Given the description of an element on the screen output the (x, y) to click on. 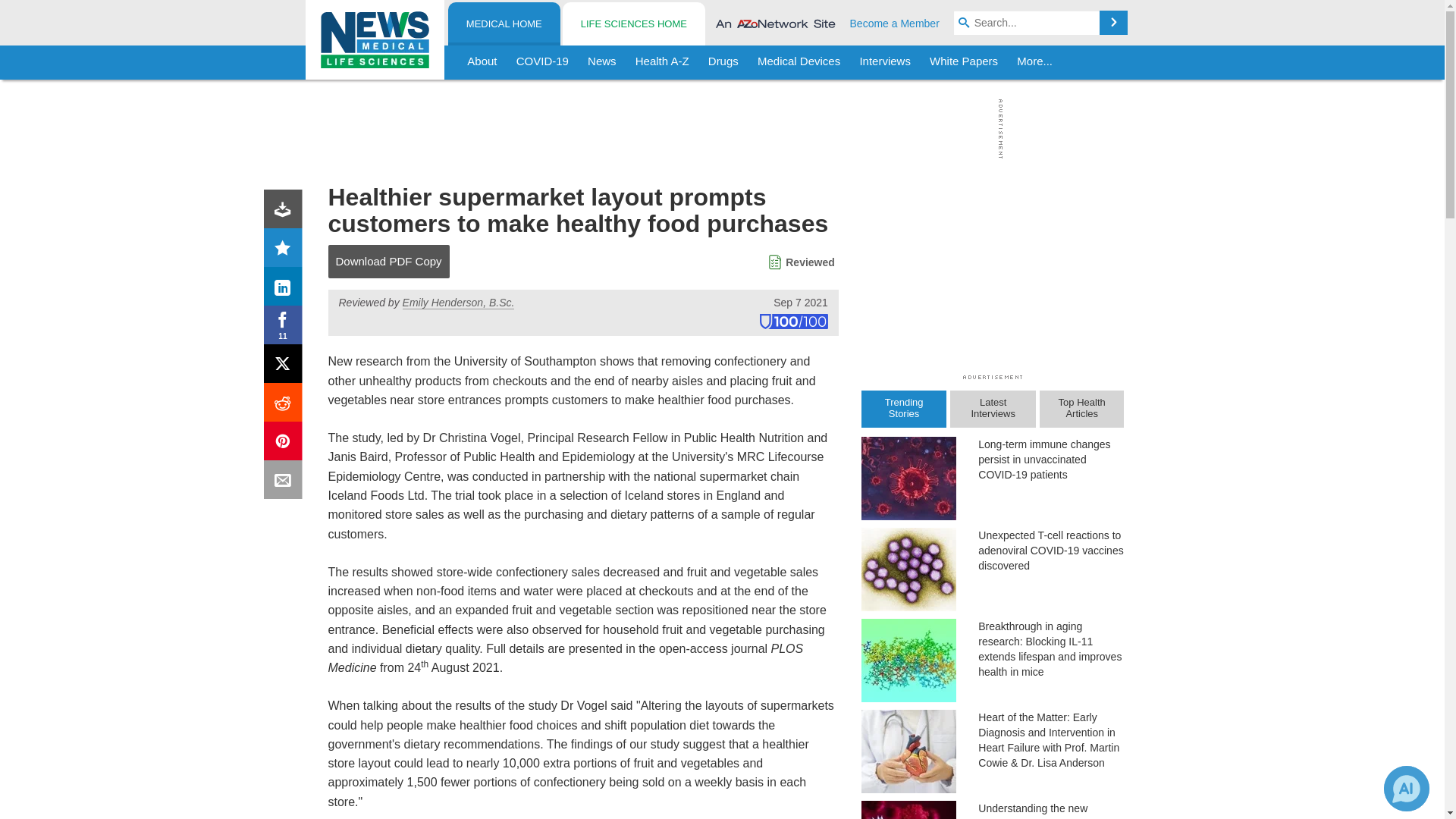
Health A-Z (662, 62)
LIFE SCIENCES HOME (633, 23)
White Papers (963, 62)
More... (1035, 62)
MEDICAL HOME (504, 23)
X (285, 366)
Email (285, 483)
Become a Member (894, 22)
Interviews (884, 62)
Facebook (285, 328)
Medical Devices (798, 62)
LinkedIn (285, 289)
Search (1112, 22)
Rating (285, 250)
